Given the description of an element on the screen output the (x, y) to click on. 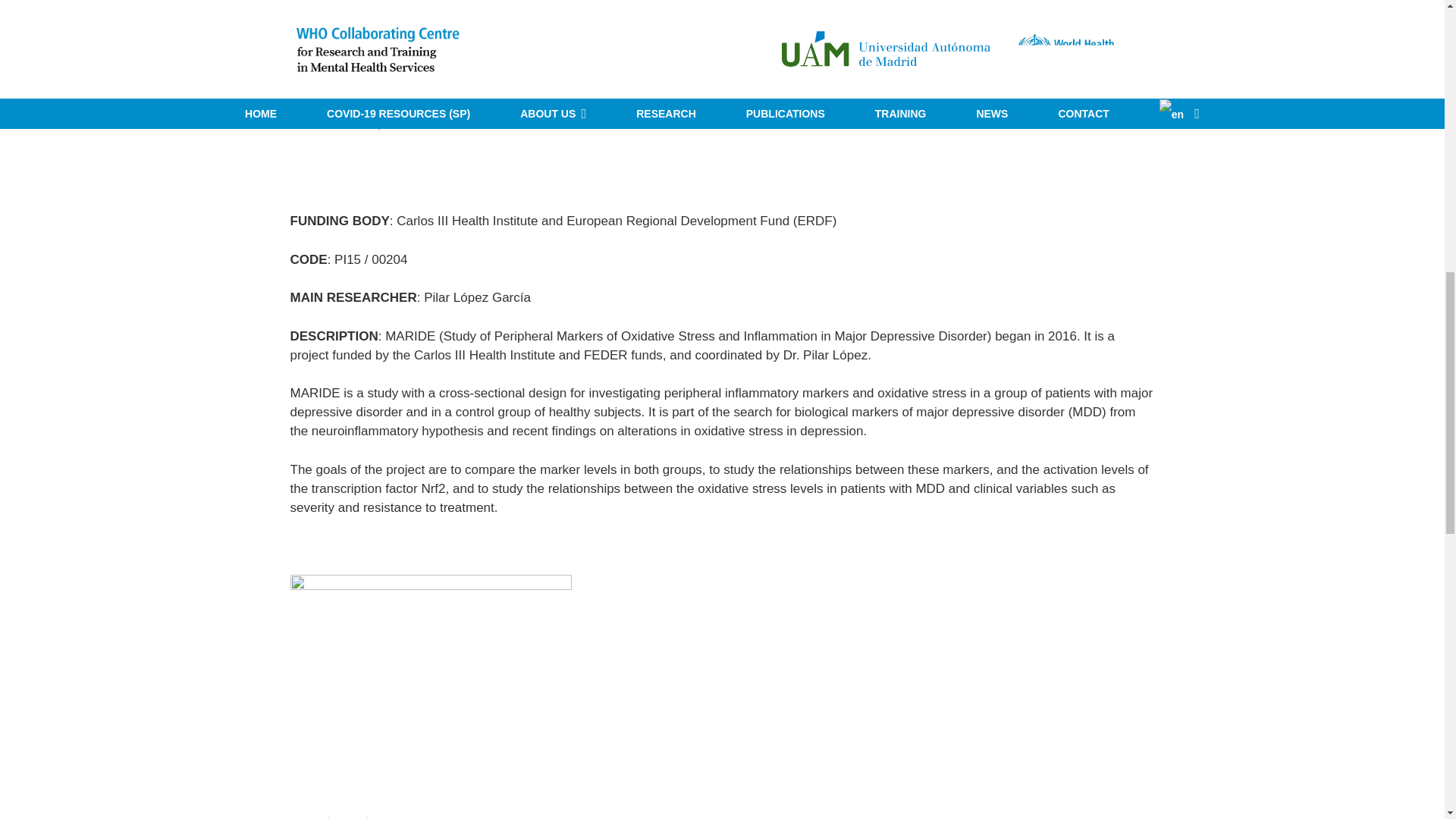
Share this (309, 817)
Back to top (1413, 34)
Tweet this (348, 817)
Research (465, 124)
Share this (386, 817)
